Given the description of an element on the screen output the (x, y) to click on. 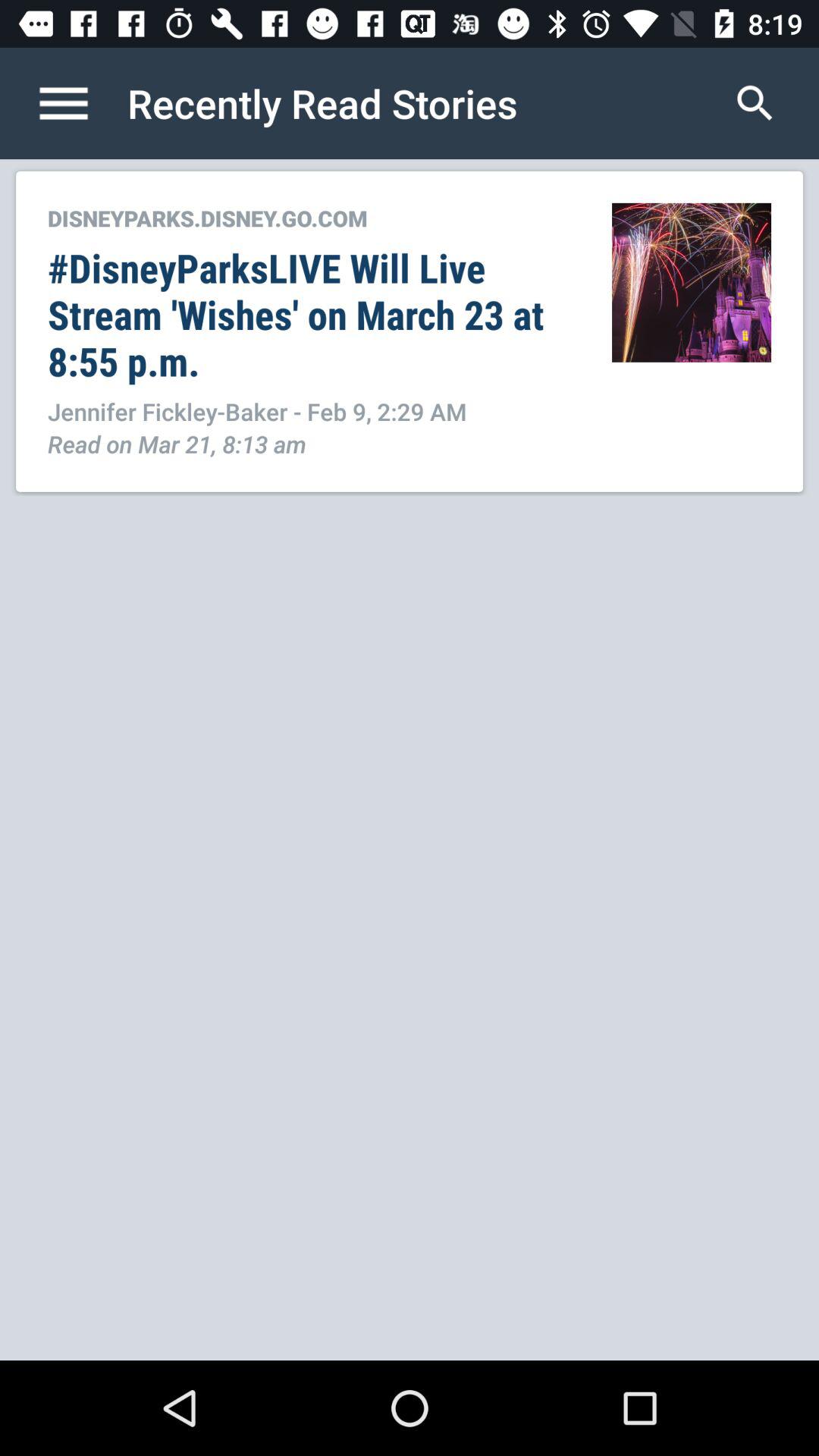
scroll until the disneyparkslive will live icon (313, 314)
